Given the description of an element on the screen output the (x, y) to click on. 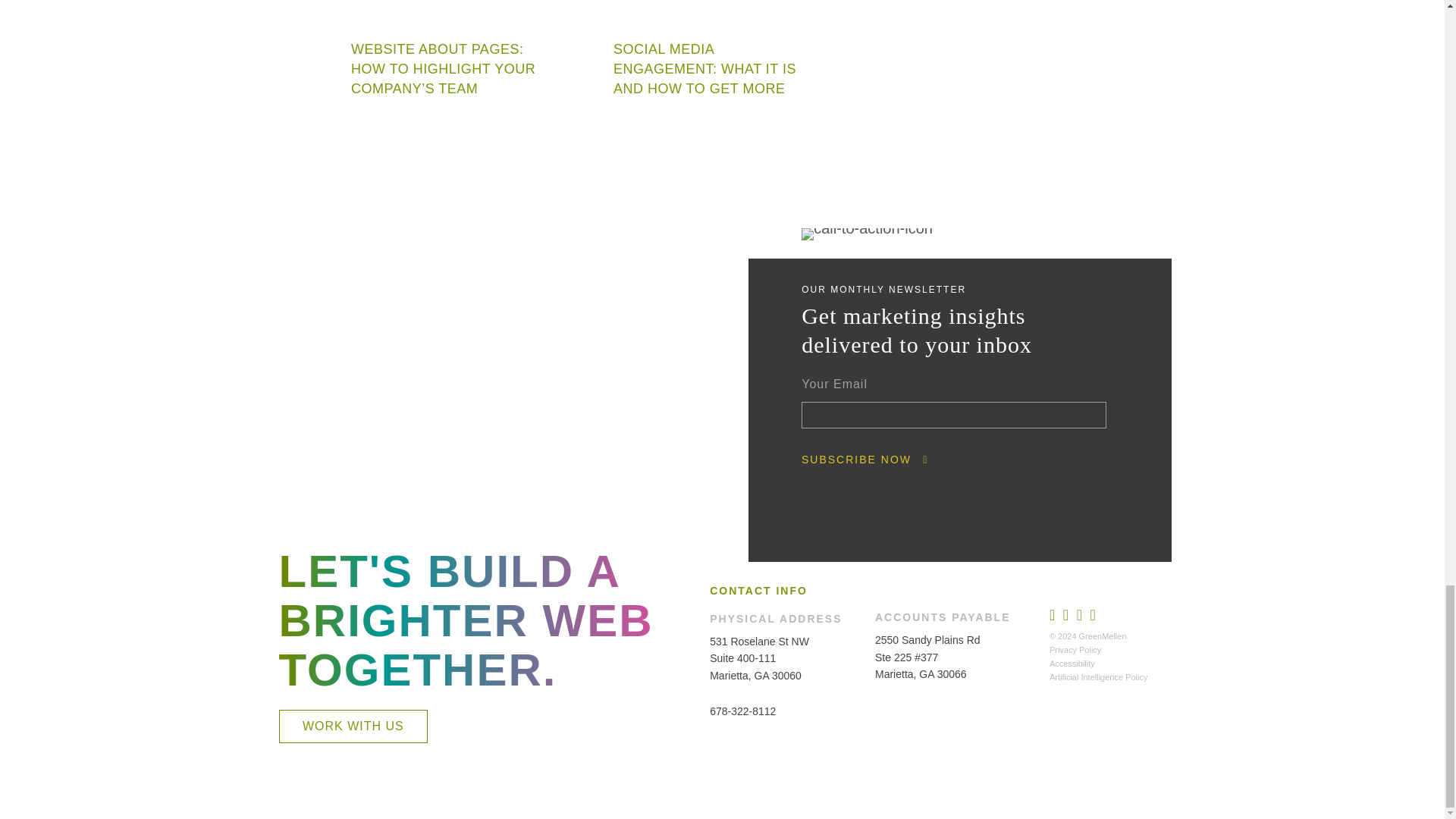
call-to-action-icon (867, 234)
Subscribe now (856, 459)
Subscribe now (856, 459)
